Given the description of an element on the screen output the (x, y) to click on. 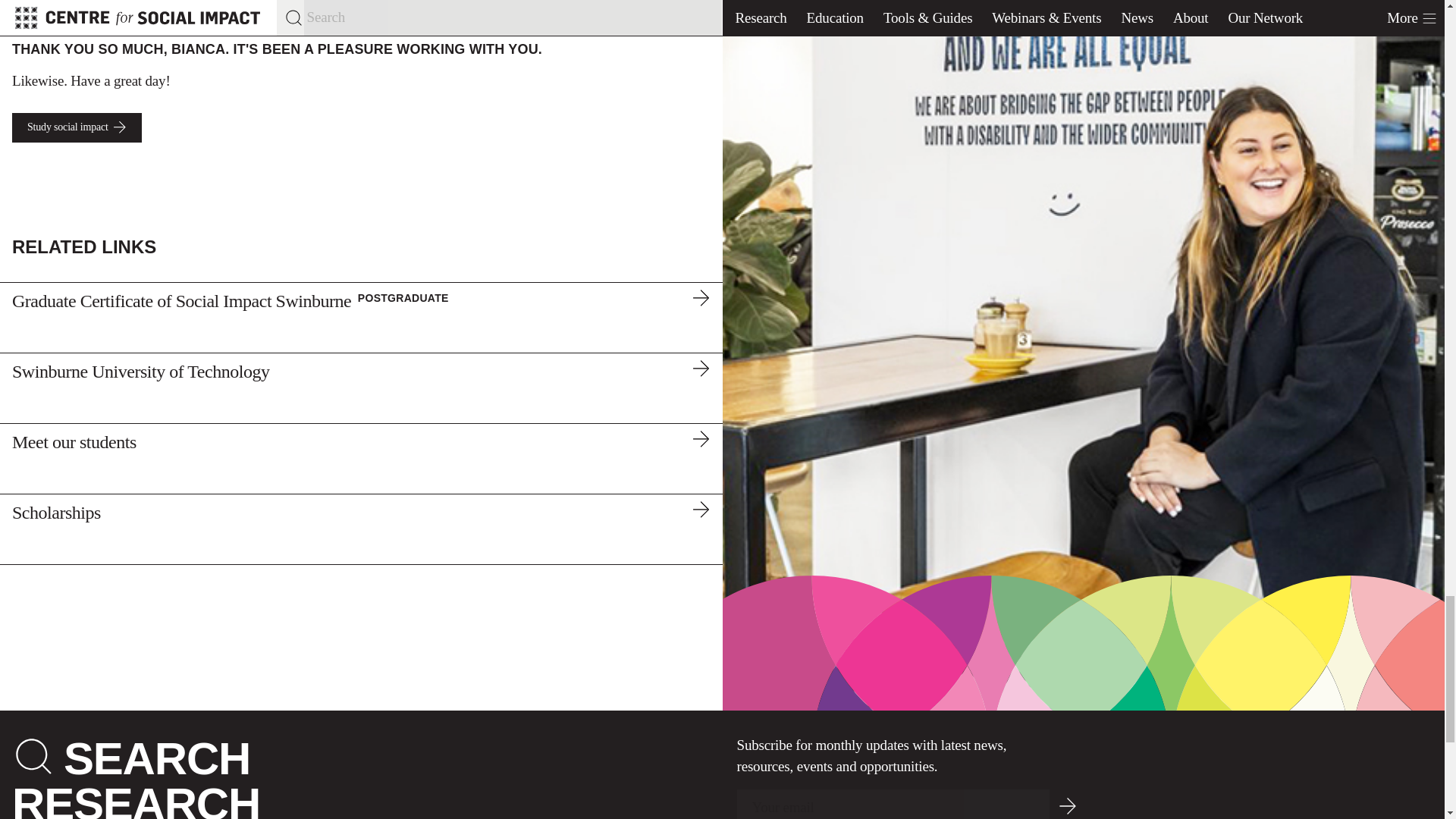
Scholarships (361, 529)
Meet our students (361, 458)
RESEARCH (135, 798)
SEARCH (157, 758)
Study social impact (76, 127)
Swinburne University of Technology (361, 387)
Graduate Certificate of Social Impact Swinburne POSTGRADUATE (361, 316)
